Given the description of an element on the screen output the (x, y) to click on. 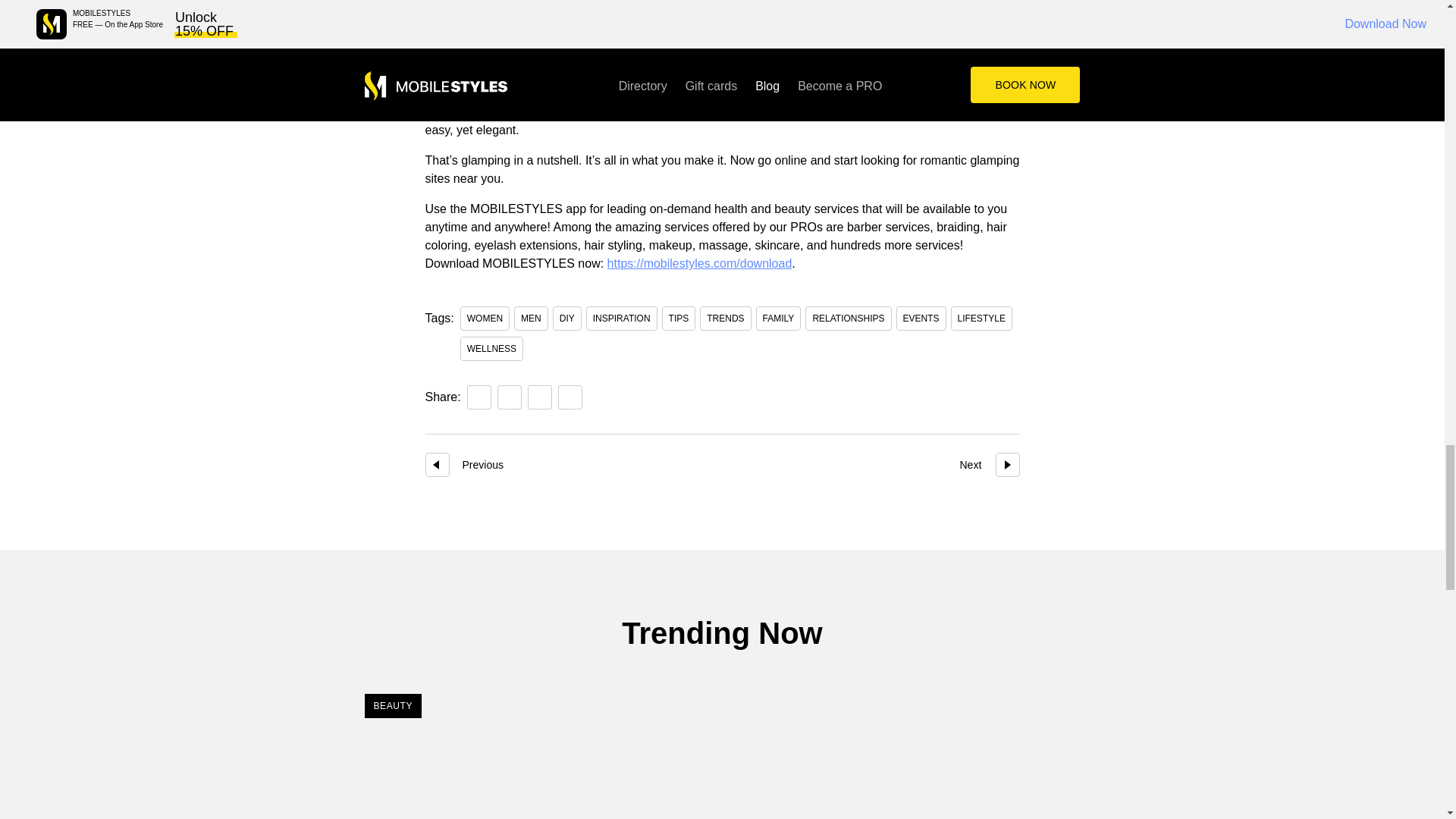
FAMILY (778, 318)
Next (1006, 464)
EVENTS (921, 318)
TIPS (678, 318)
WOMEN (484, 318)
Previous (436, 464)
RELATIONSHIPS (848, 318)
MEN (530, 318)
TRENDS (725, 318)
